Given the description of an element on the screen output the (x, y) to click on. 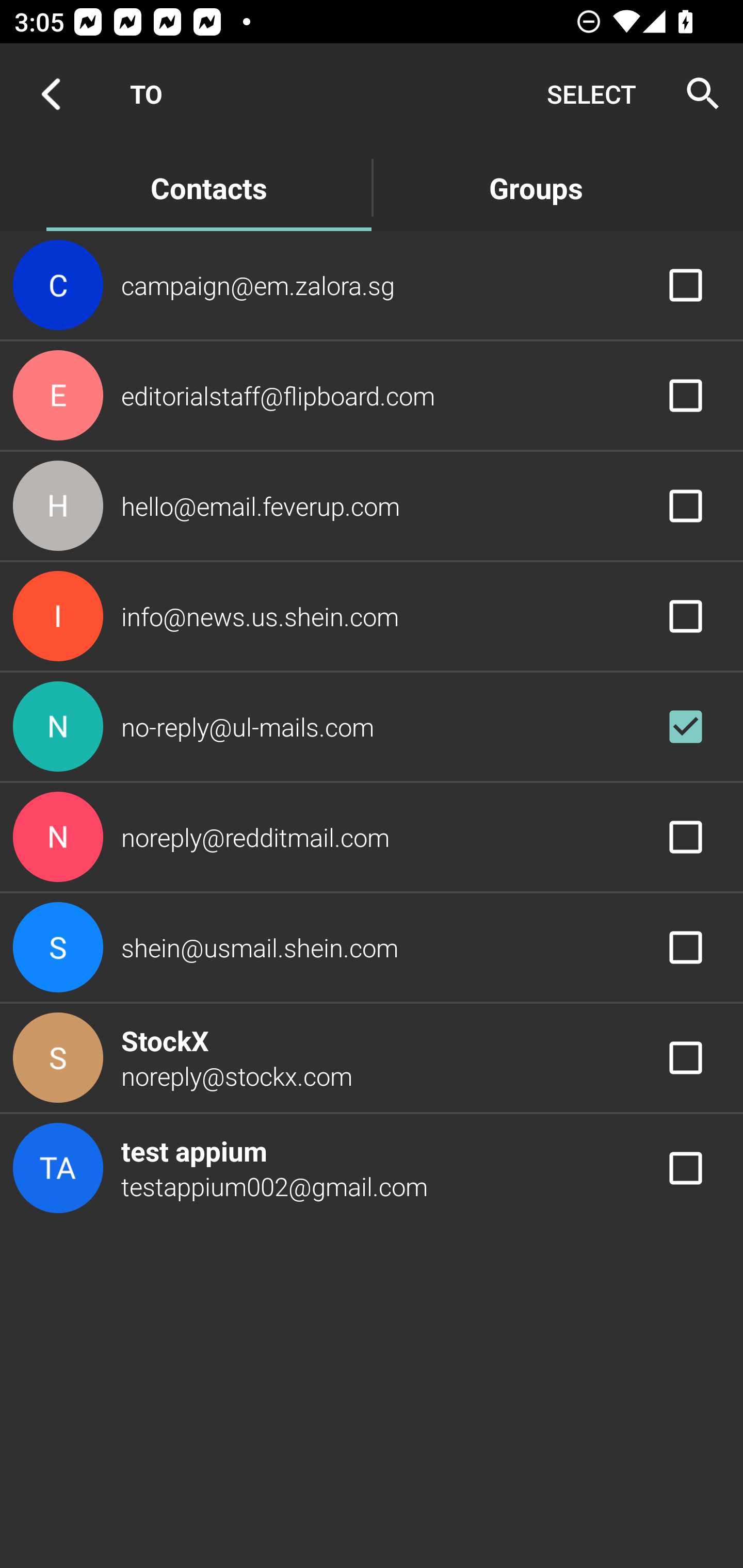
Navigate up (50, 93)
SELECT (590, 93)
Search (696, 93)
Contacts (208, 187)
Groups (535, 187)
campaign@em.zalora.sg (371, 284)
editorialstaff@flipboard.com (371, 395)
hello@email.feverup.com (371, 505)
info@news.us.shein.com (371, 616)
no-reply@ul-mails.com (371, 726)
noreply@redditmail.com (371, 836)
shein@usmail.shein.com (371, 947)
StockX noreply@stockx.com (371, 1057)
test appium testappium002@gmail.com (371, 1168)
